Given the description of an element on the screen output the (x, y) to click on. 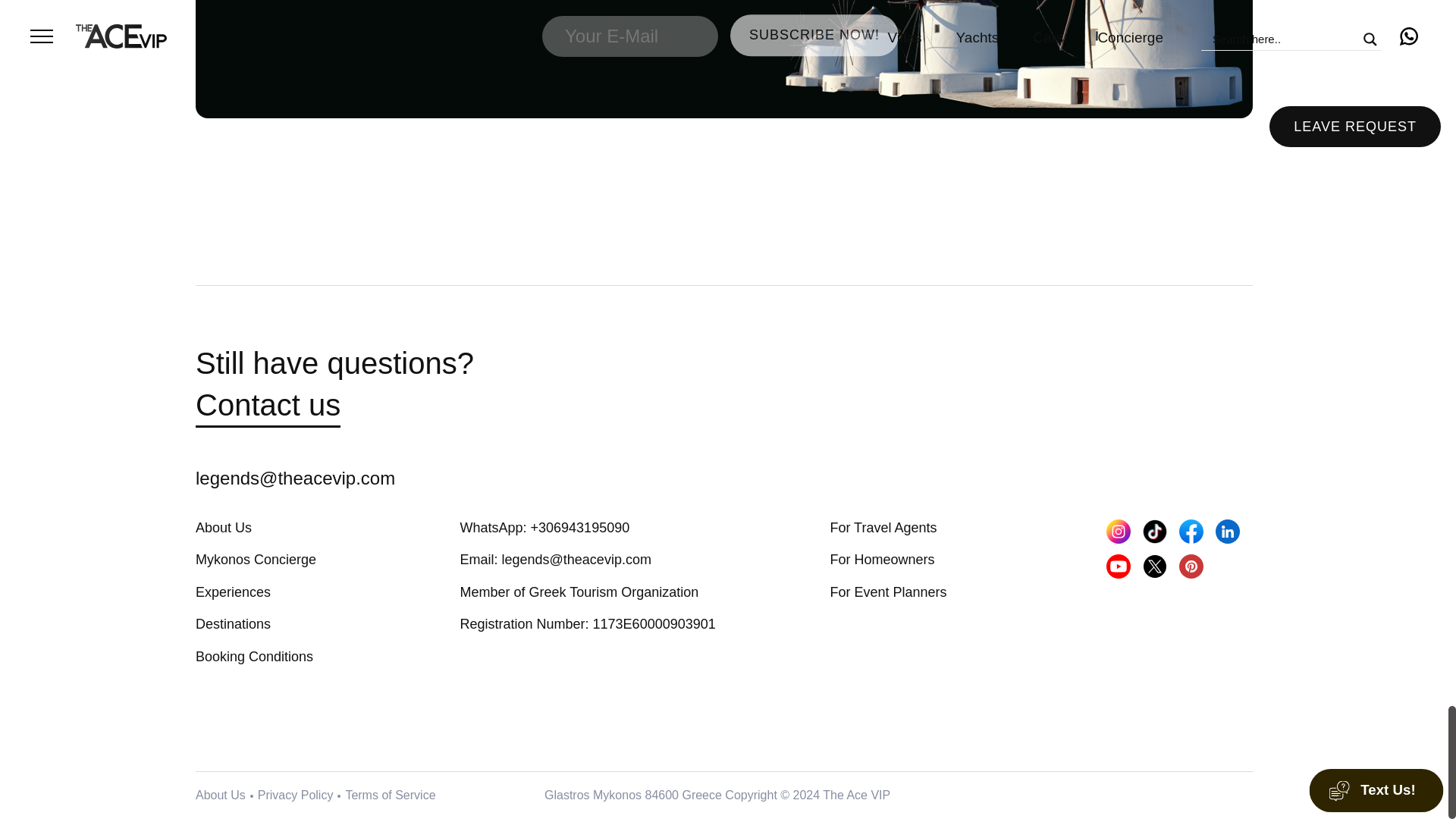
Subscribe Now! (814, 35)
